Given the description of an element on the screen output the (x, y) to click on. 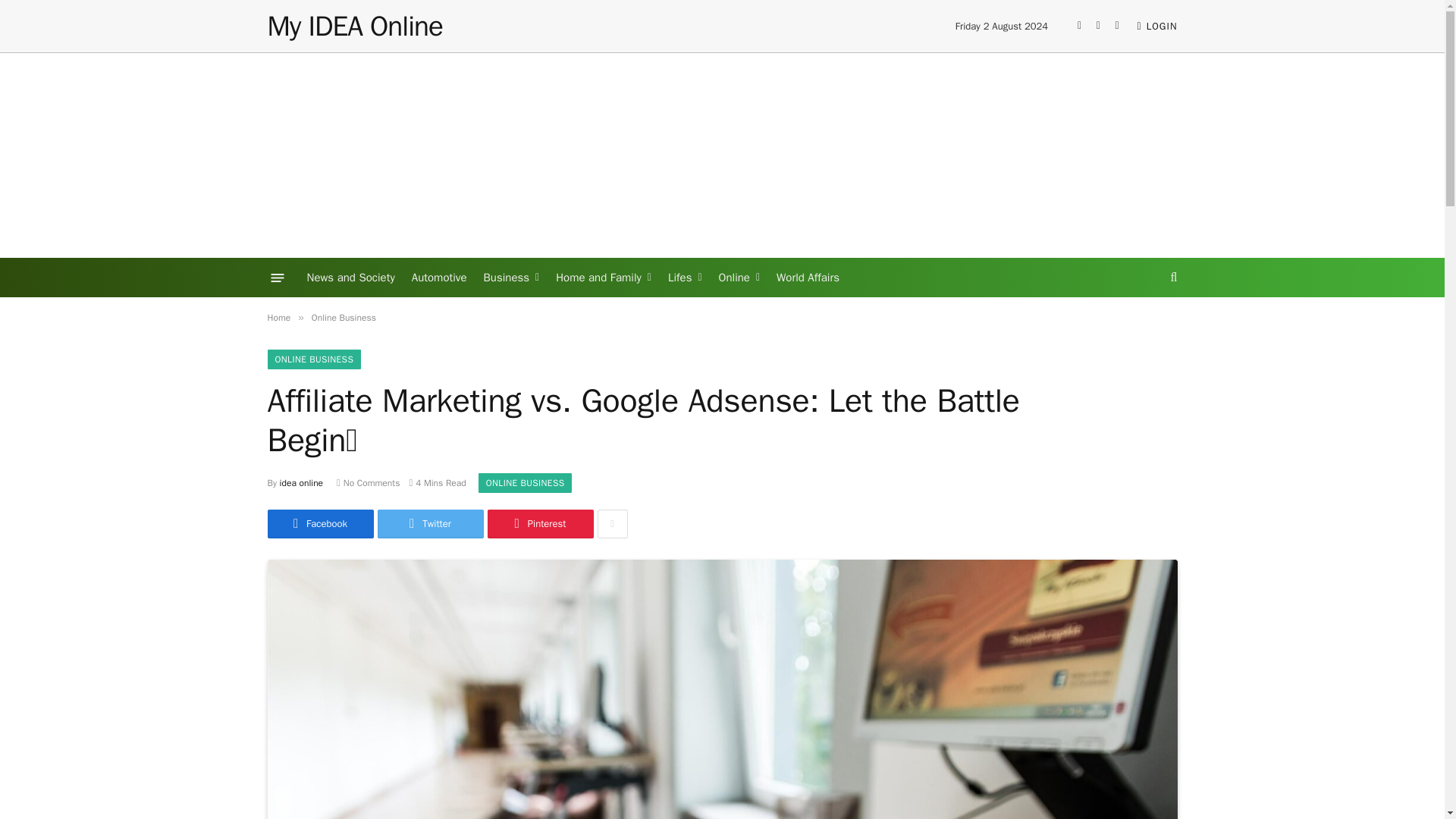
Share on Facebook (319, 523)
My Idea Online (354, 25)
Show More Social Sharing (611, 523)
Posts by idea online (301, 482)
Share on Pinterest (539, 523)
